Given the description of an element on the screen output the (x, y) to click on. 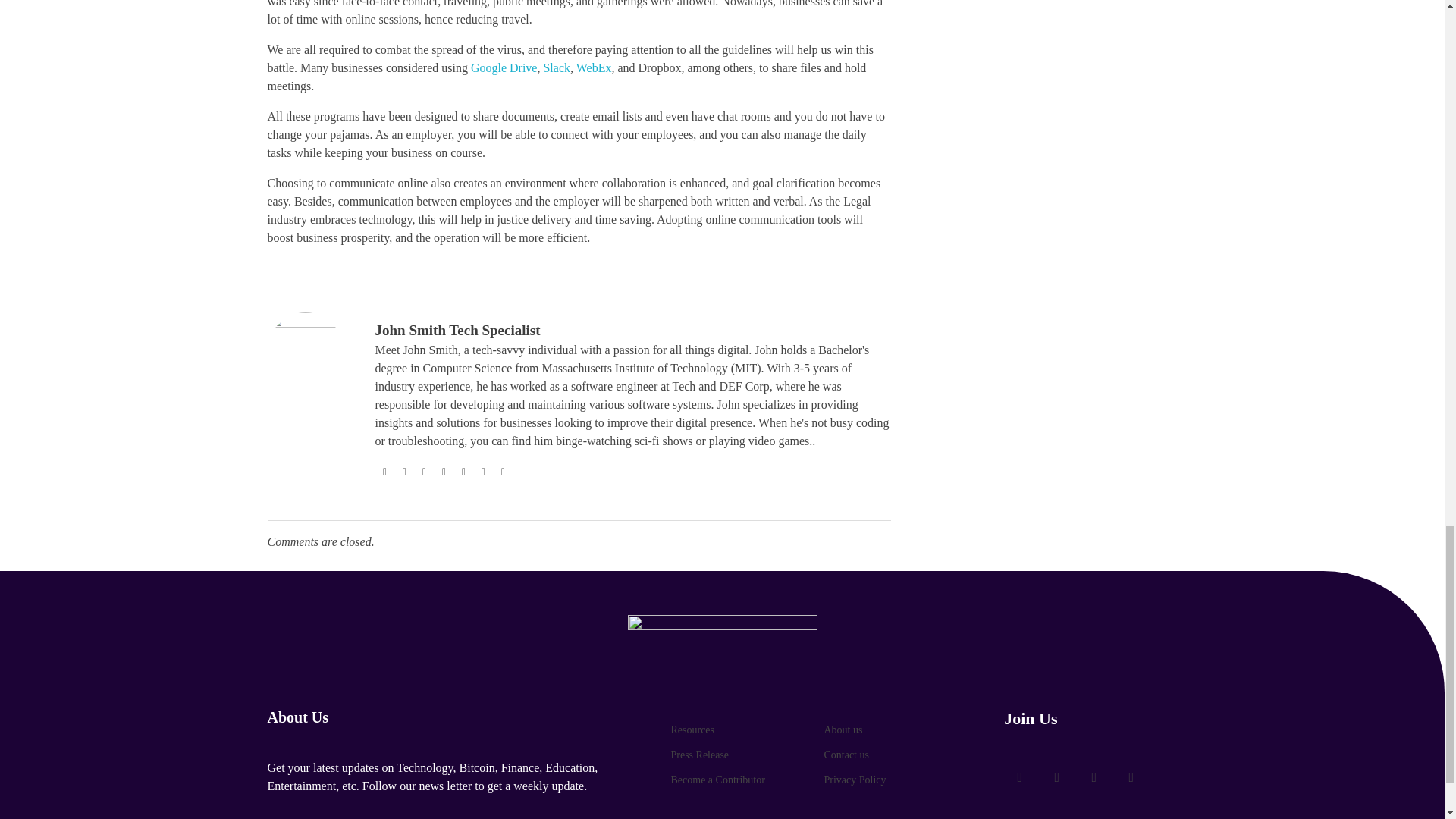
Google Drive (503, 67)
View all posts by John Smith Tech Specialist (457, 330)
John Smith Tech Specialist (457, 330)
WebEx (593, 67)
Slack (556, 67)
